Given the description of an element on the screen output the (x, y) to click on. 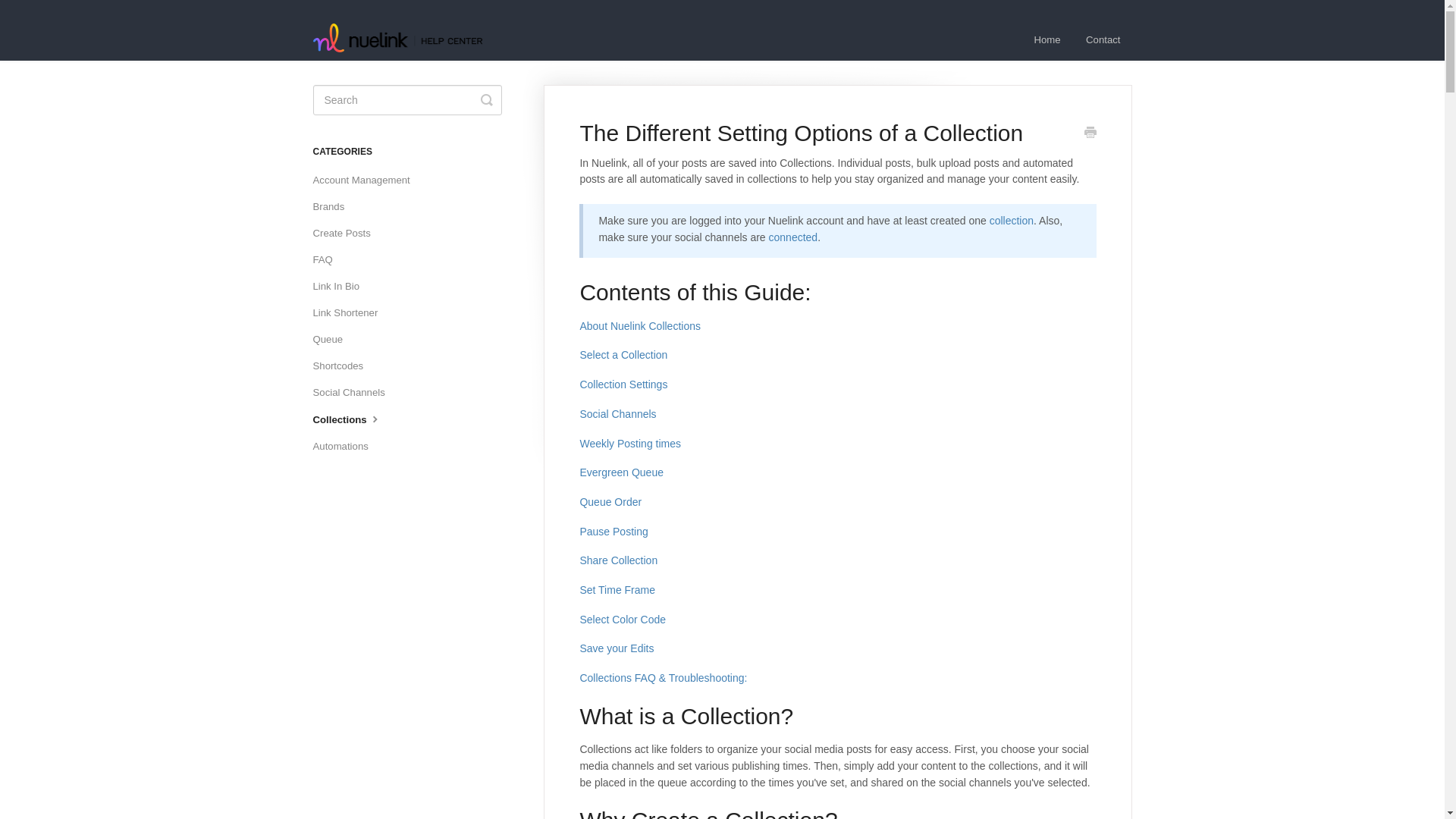
Save your Edits (616, 648)
Set Time Frame (617, 589)
Home (1047, 39)
Collection Settings (622, 384)
Select Color Code (622, 619)
Shortcodes (343, 364)
Create Posts (347, 233)
Account Management (366, 180)
Link In Bio (342, 286)
collection (1011, 220)
